Given the description of an element on the screen output the (x, y) to click on. 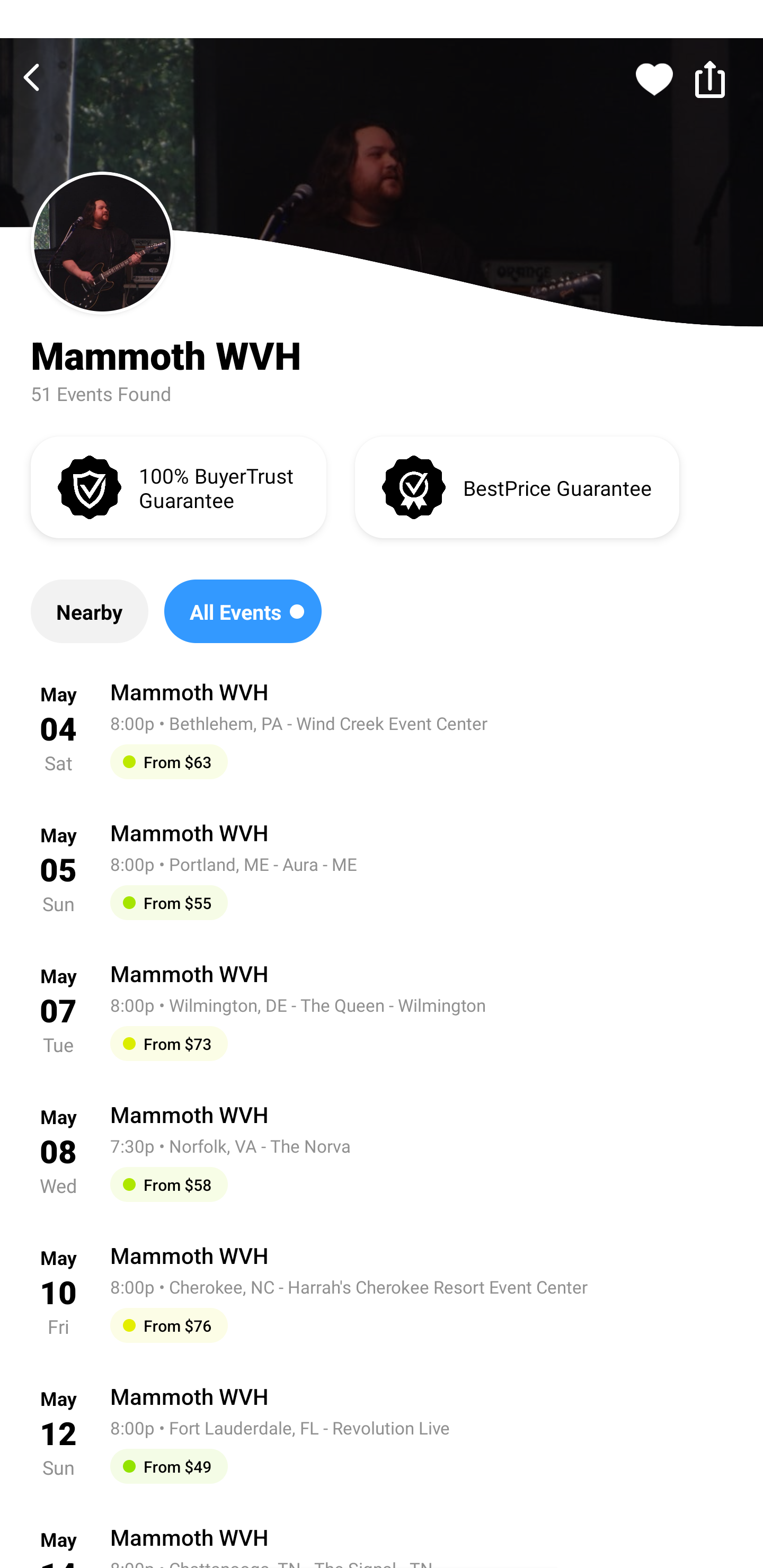
100% BuyerTrust Guarantee (178, 486)
BestPrice Guarantee (516, 486)
Nearby (89, 611)
All Events (242, 611)
